Given the description of an element on the screen output the (x, y) to click on. 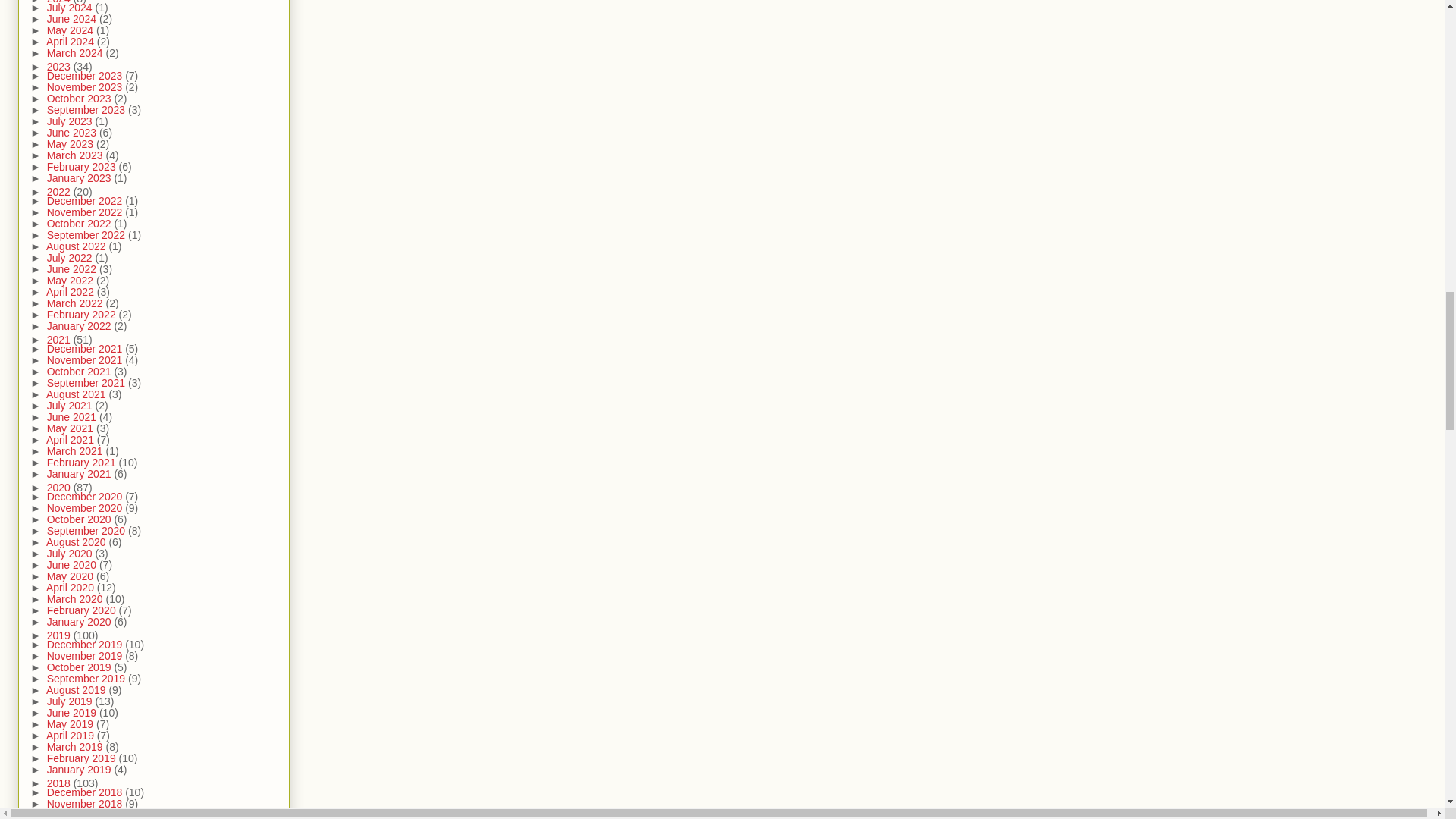
2024 (60, 2)
June 2024 (72, 19)
May 2024 (71, 30)
July 2024 (71, 7)
